Given the description of an element on the screen output the (x, y) to click on. 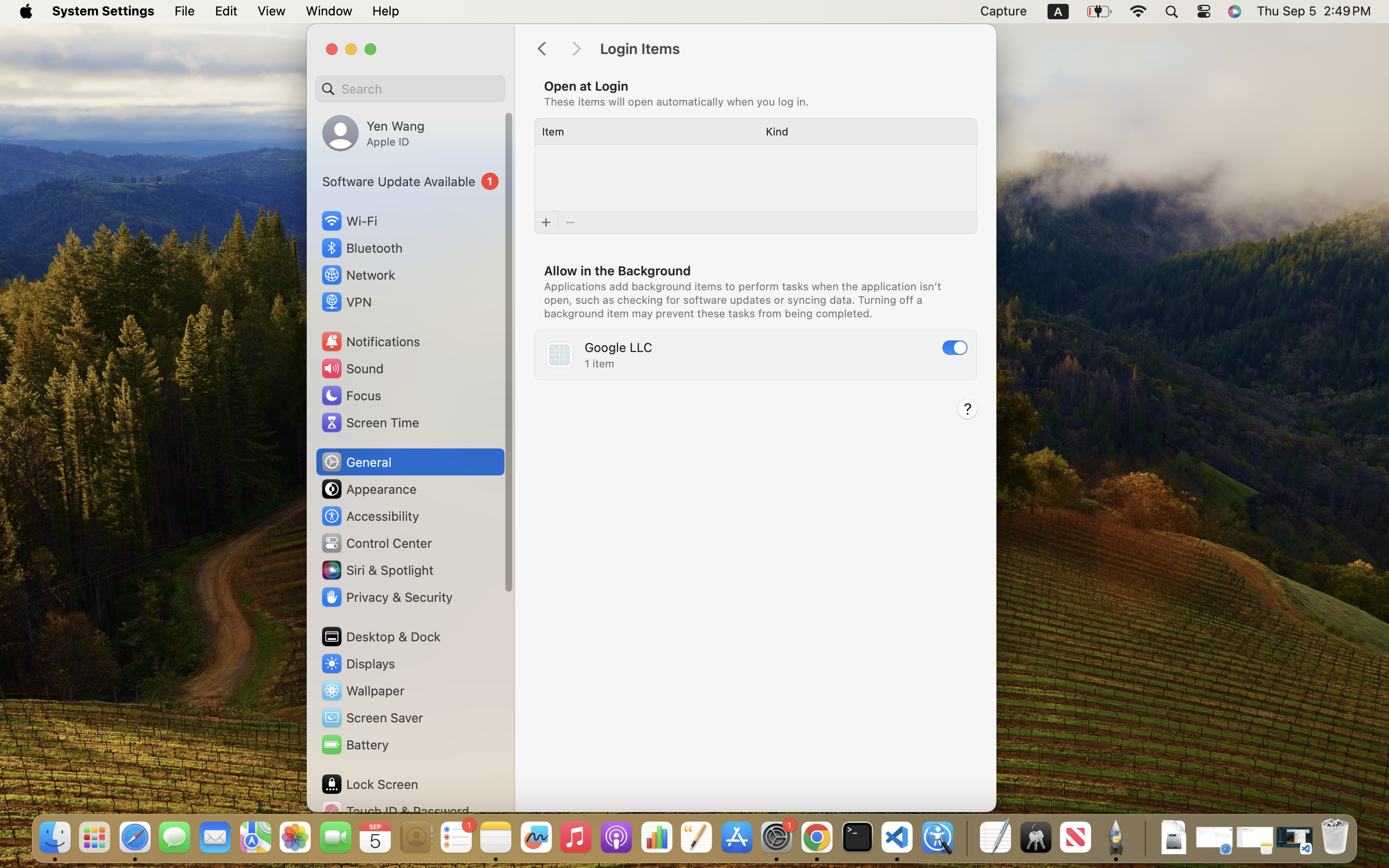
Notifications Element type: AXStaticText (370, 340)
Control Center Element type: AXStaticText (376, 542)
Yen Wang, Apple ID Element type: AXStaticText (373, 132)
